Given the description of an element on the screen output the (x, y) to click on. 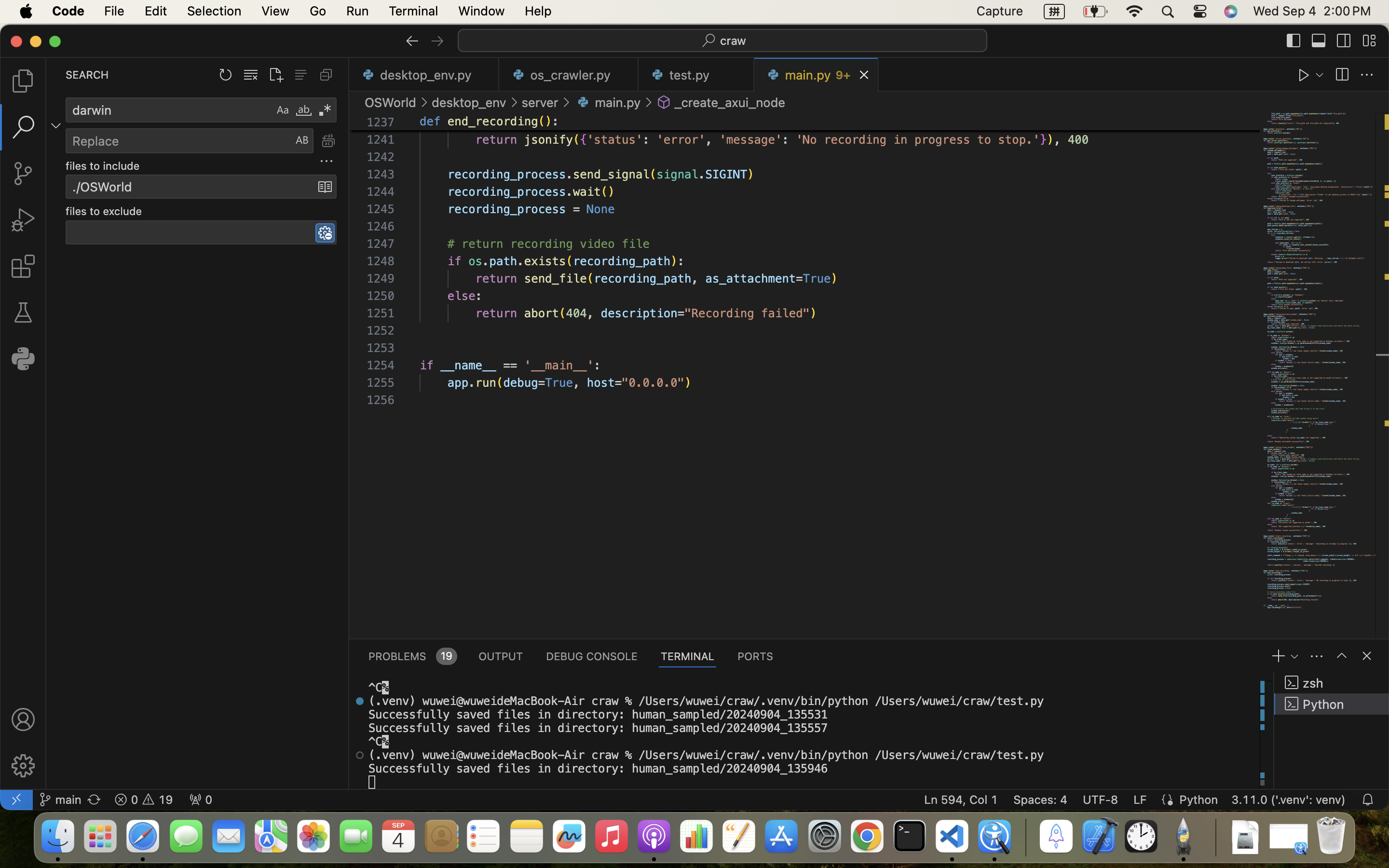
 Element type: AXButton (327, 140)
Python  Element type: AXGroup (1331, 703)
 Element type: AXButton (412, 40)
OSWorld Element type: AXGroup (390, 101)
0 test.py   Element type: AXRadioButton (696, 74)
